Given the description of an element on the screen output the (x, y) to click on. 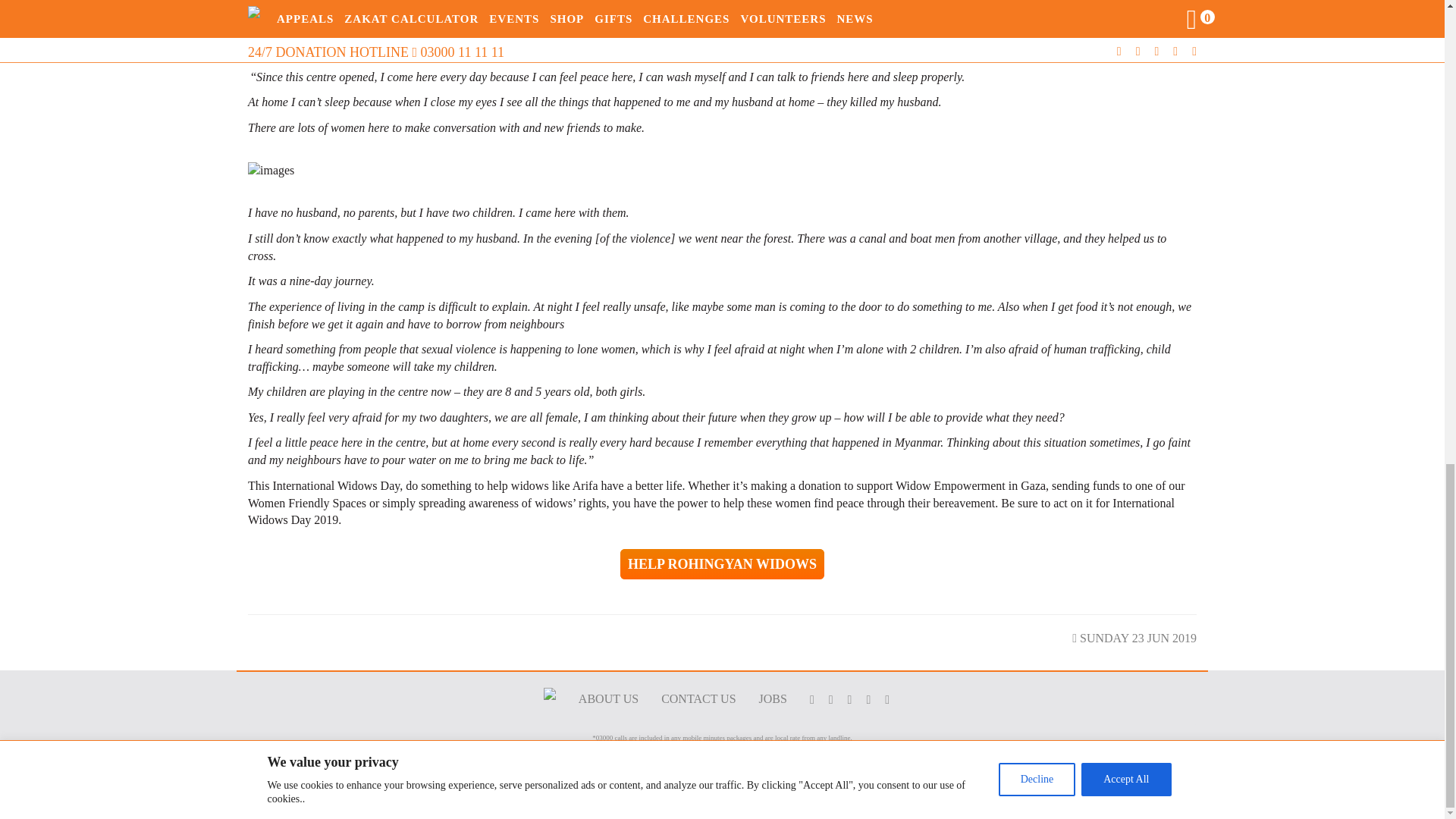
CONTACT US (697, 699)
Complaints Procedure (758, 803)
ABOUT US (608, 699)
JOBS (772, 699)
JOBS (772, 699)
Terms and Conditions (587, 803)
Privacy Policy (674, 803)
HELP ROHINGYAN WIDOWS (721, 563)
ABOUT US (608, 699)
CONTACT US (697, 699)
